Given the description of an element on the screen output the (x, y) to click on. 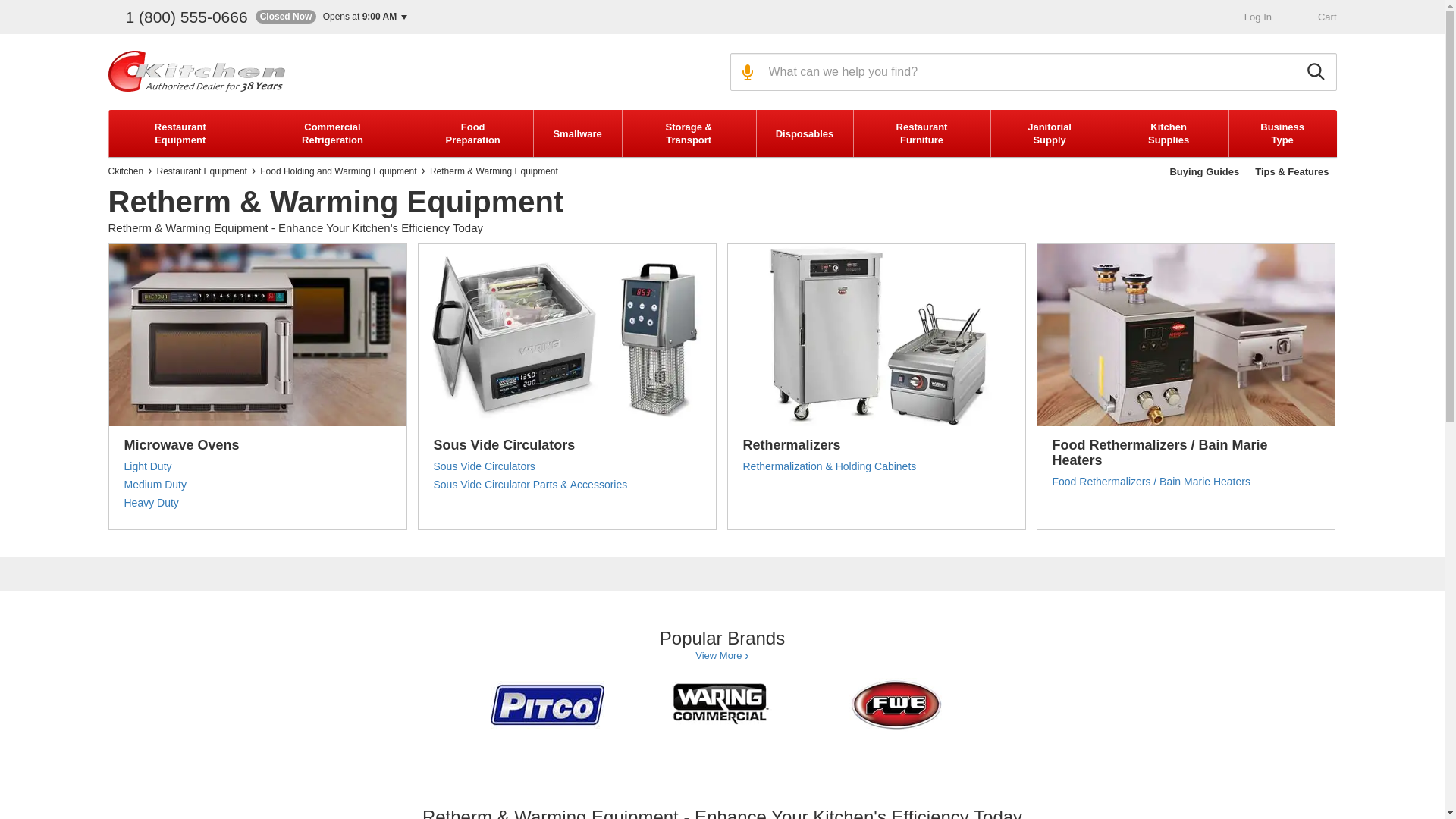
Business Type (1282, 133)
Sous Vide Circulators (504, 444)
Kitchen Supplies (1167, 133)
Cart (1318, 16)
Smallware (576, 133)
Rethermalizers (791, 444)
Restaurant Furniture (921, 133)
Kitchen Supplies (1167, 133)
Heavy Duty (151, 502)
Search (1318, 71)
